Given the description of an element on the screen output the (x, y) to click on. 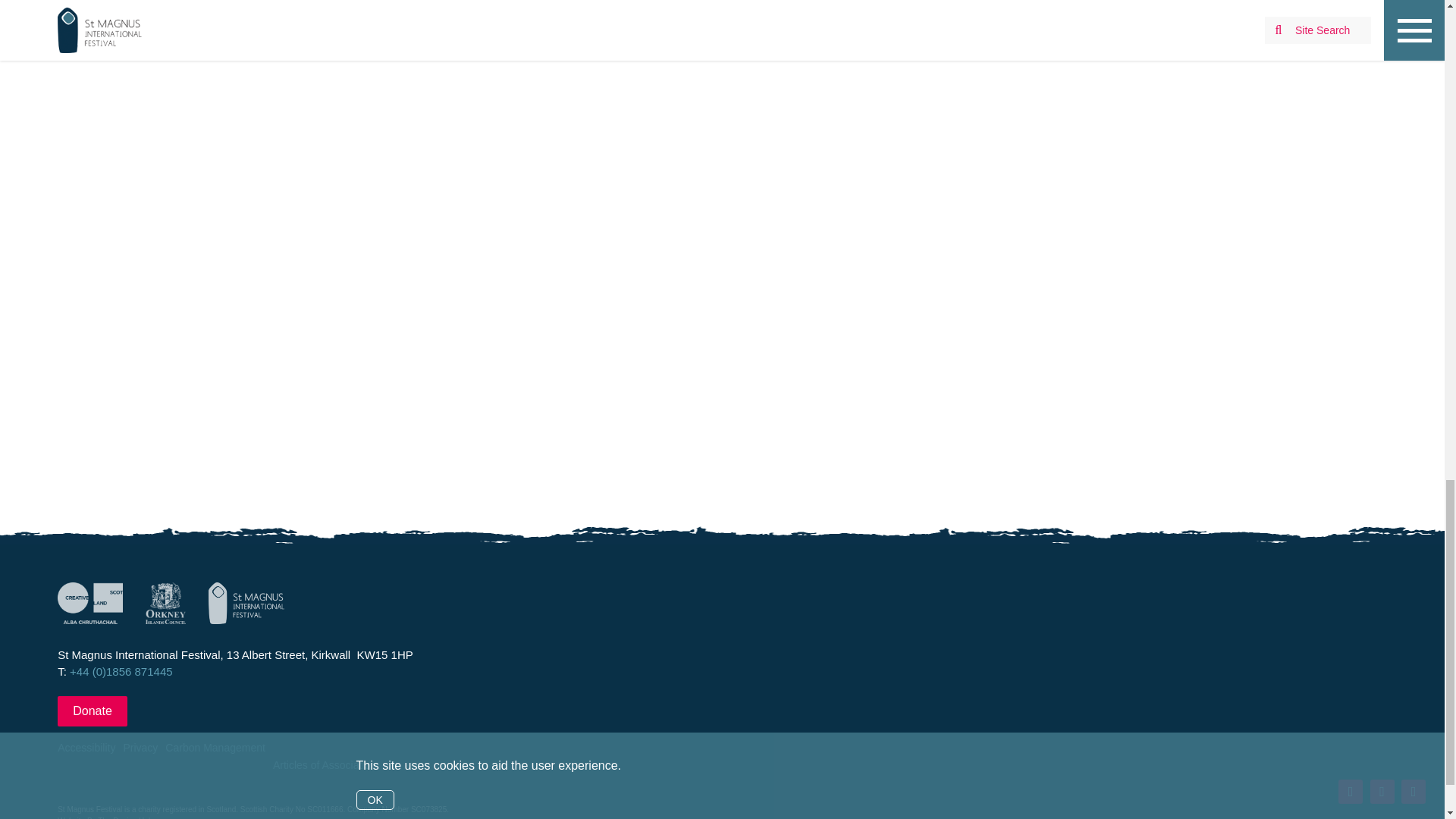
Accessibility (86, 765)
Donate (93, 711)
